Given the description of an element on the screen output the (x, y) to click on. 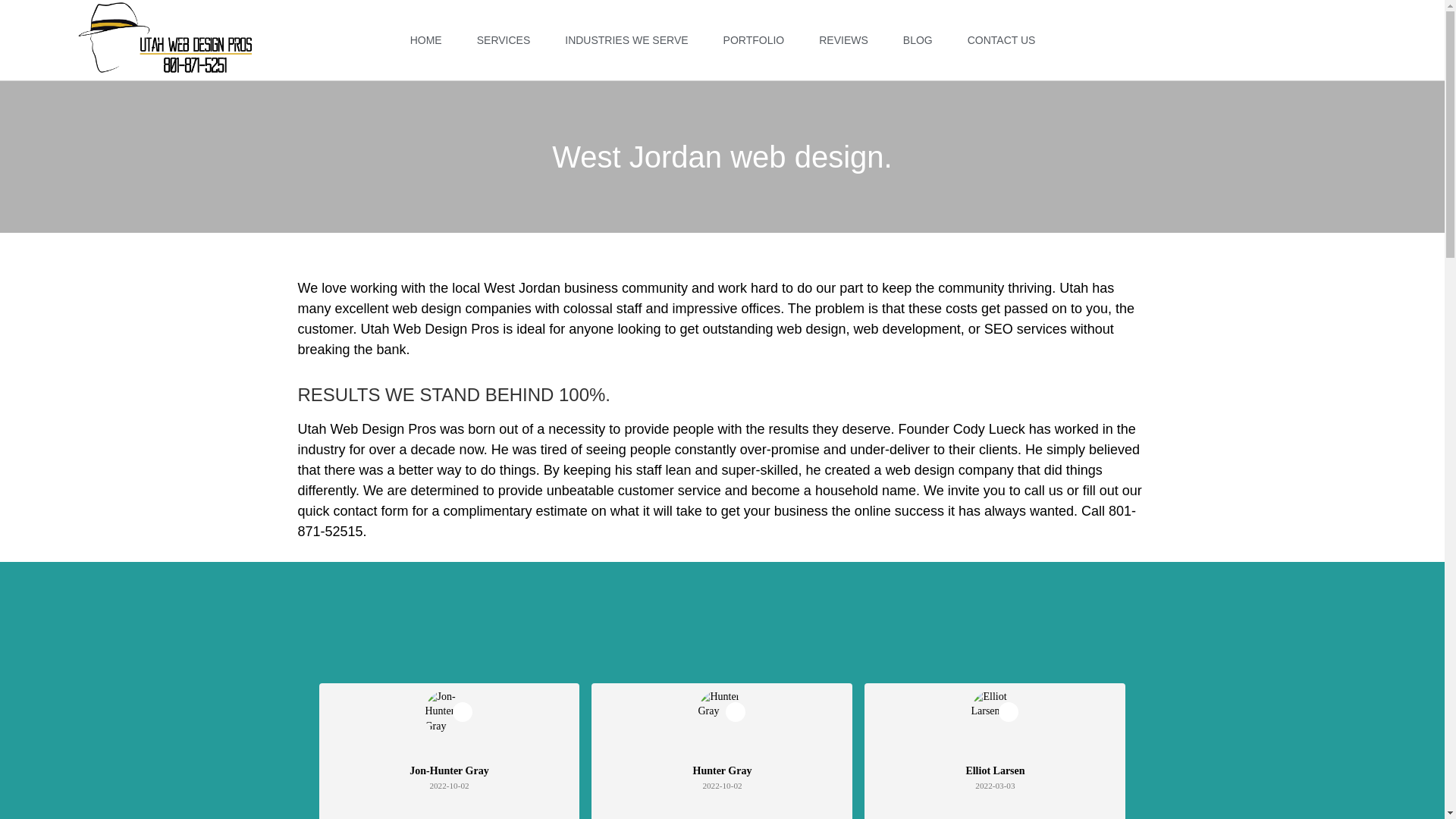
PORTFOLIO (753, 39)
INDUSTRIES WE SERVE (626, 39)
CONTACT US (1001, 39)
HOME (425, 39)
SERVICES (503, 39)
REVIEWS (843, 39)
